Given the description of an element on the screen output the (x, y) to click on. 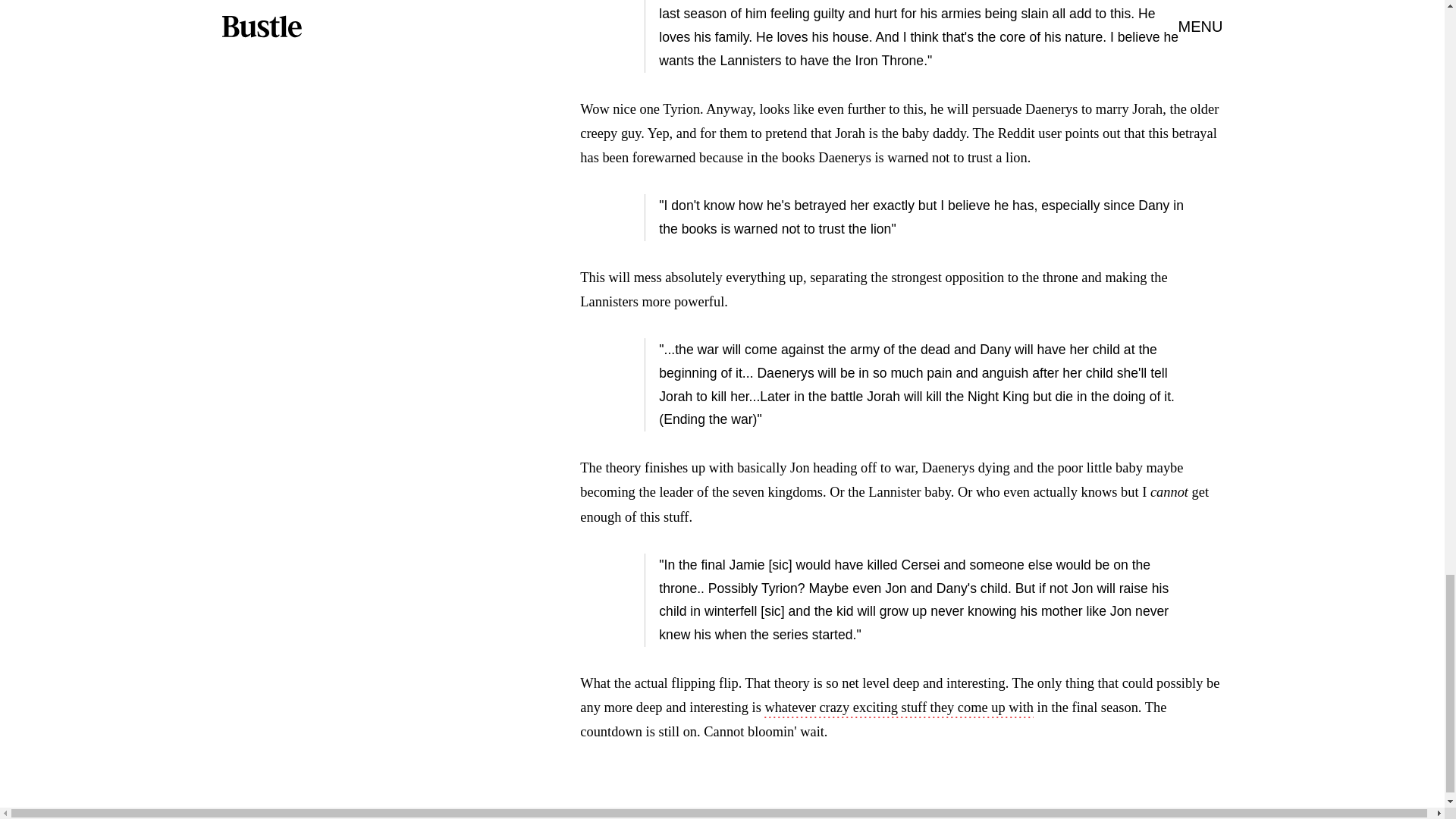
whatever crazy exciting stuff they come up with (898, 709)
